Given the description of an element on the screen output the (x, y) to click on. 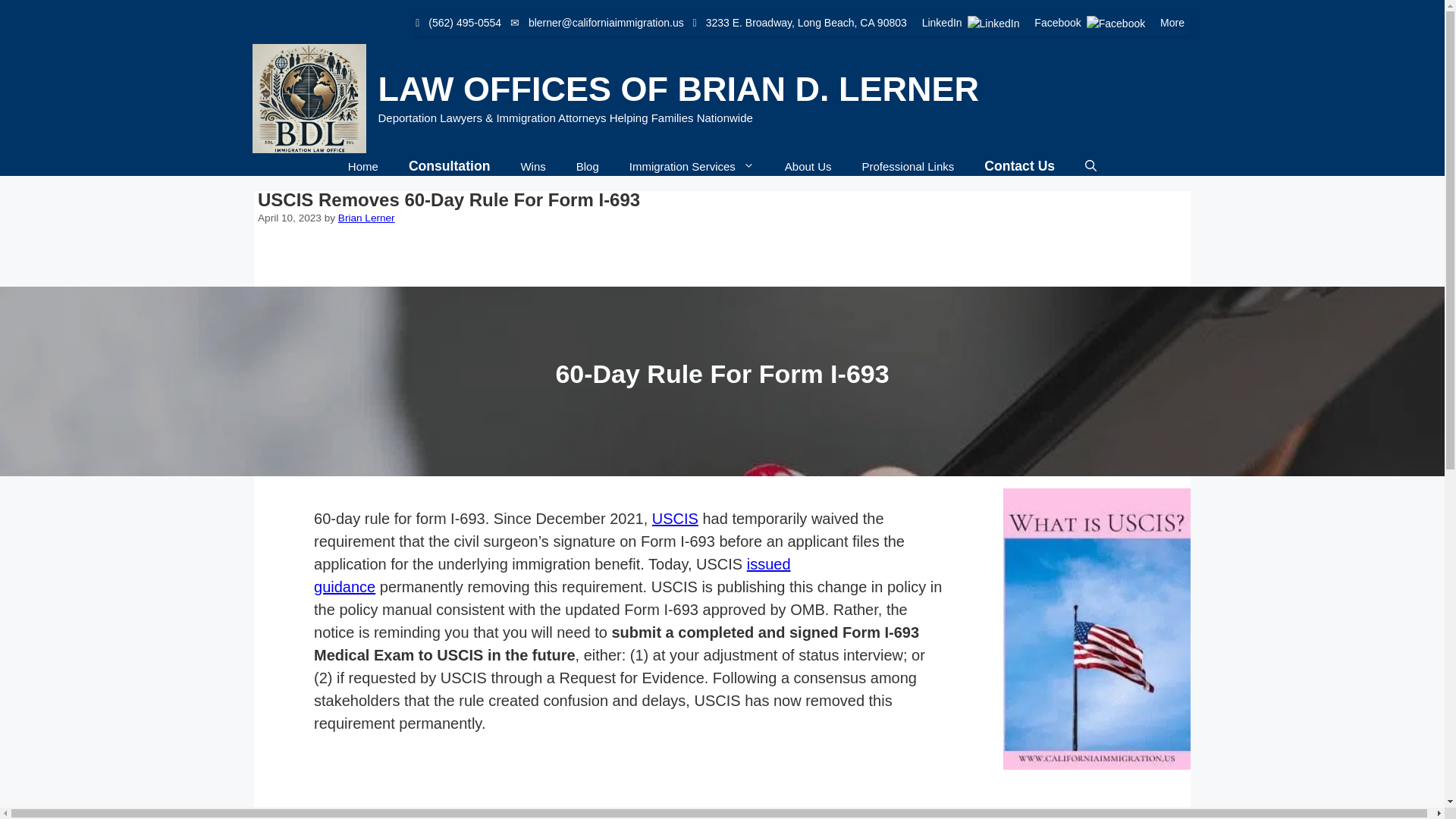
LAW OFFICES OF BRIAN D. LERNER (677, 88)
LinkedIn (972, 22)
View all posts by Brian Lerner (365, 217)
Facebook (1090, 22)
3233 E. Broadway, Long Beach, CA 90803 (806, 22)
